Given the description of an element on the screen output the (x, y) to click on. 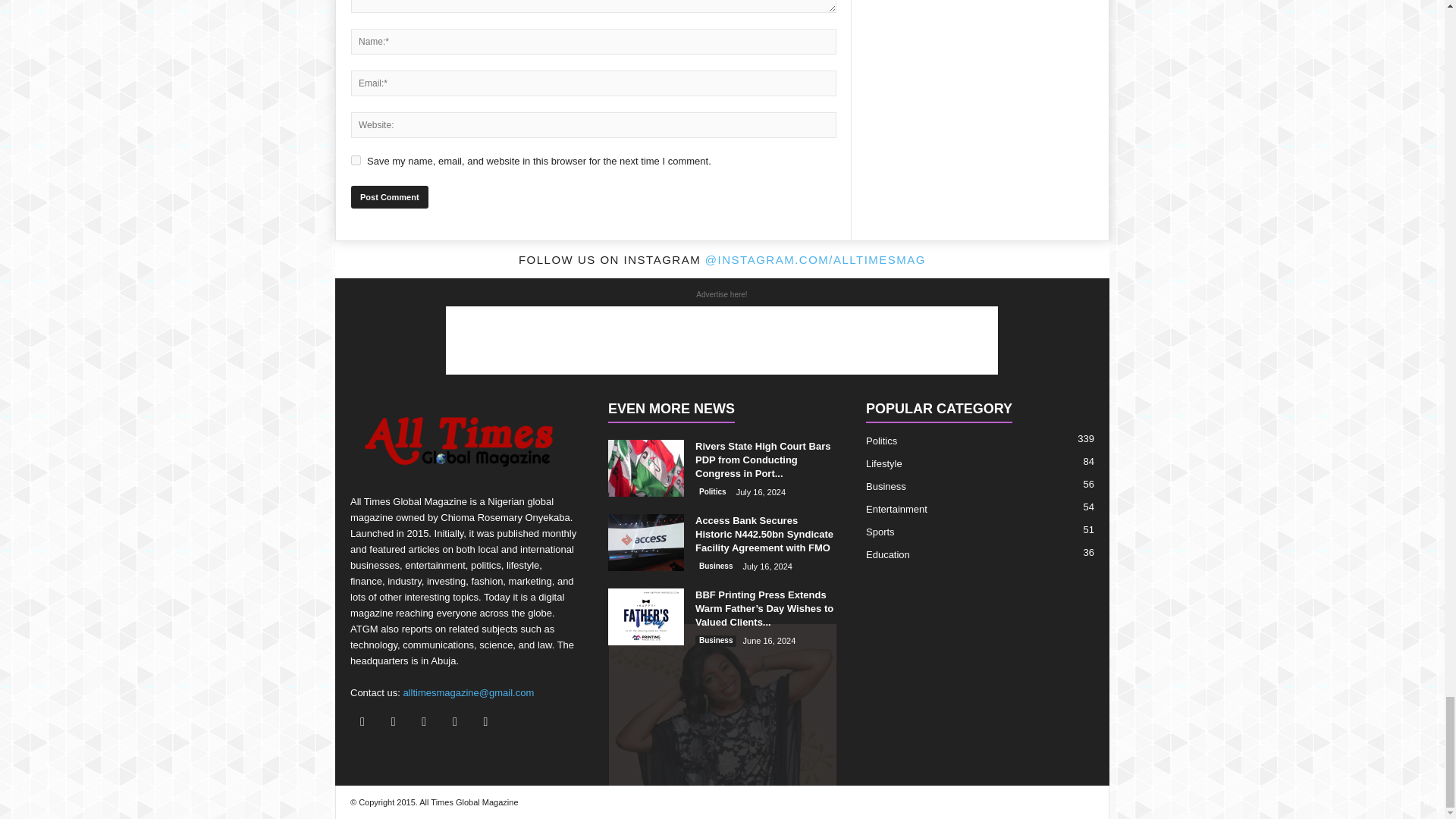
yes (355, 160)
Post Comment (389, 196)
